Given the description of an element on the screen output the (x, y) to click on. 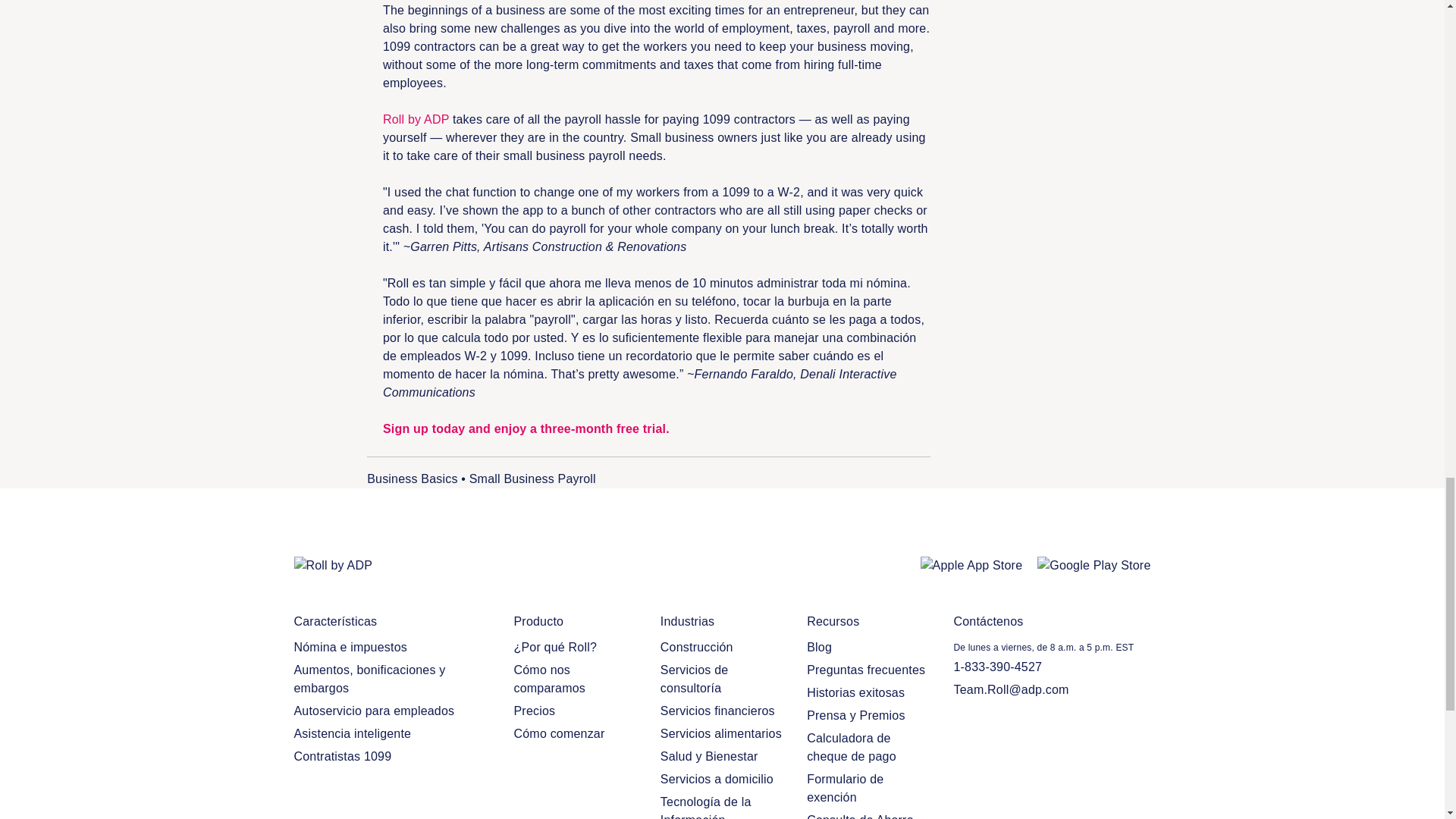
Roll by ADP (415, 119)
Salud y Bienestar (722, 756)
Blog (868, 647)
Contratistas 1099 (393, 756)
Go to the ADP Roll By Get Started Page (415, 119)
Industrias (722, 621)
Servicios a domicilio (722, 779)
Aumentos, bonificaciones y embargos (393, 678)
Asistencia inteligente (393, 733)
Autoservicio para empleados (393, 710)
